Given the description of an element on the screen output the (x, y) to click on. 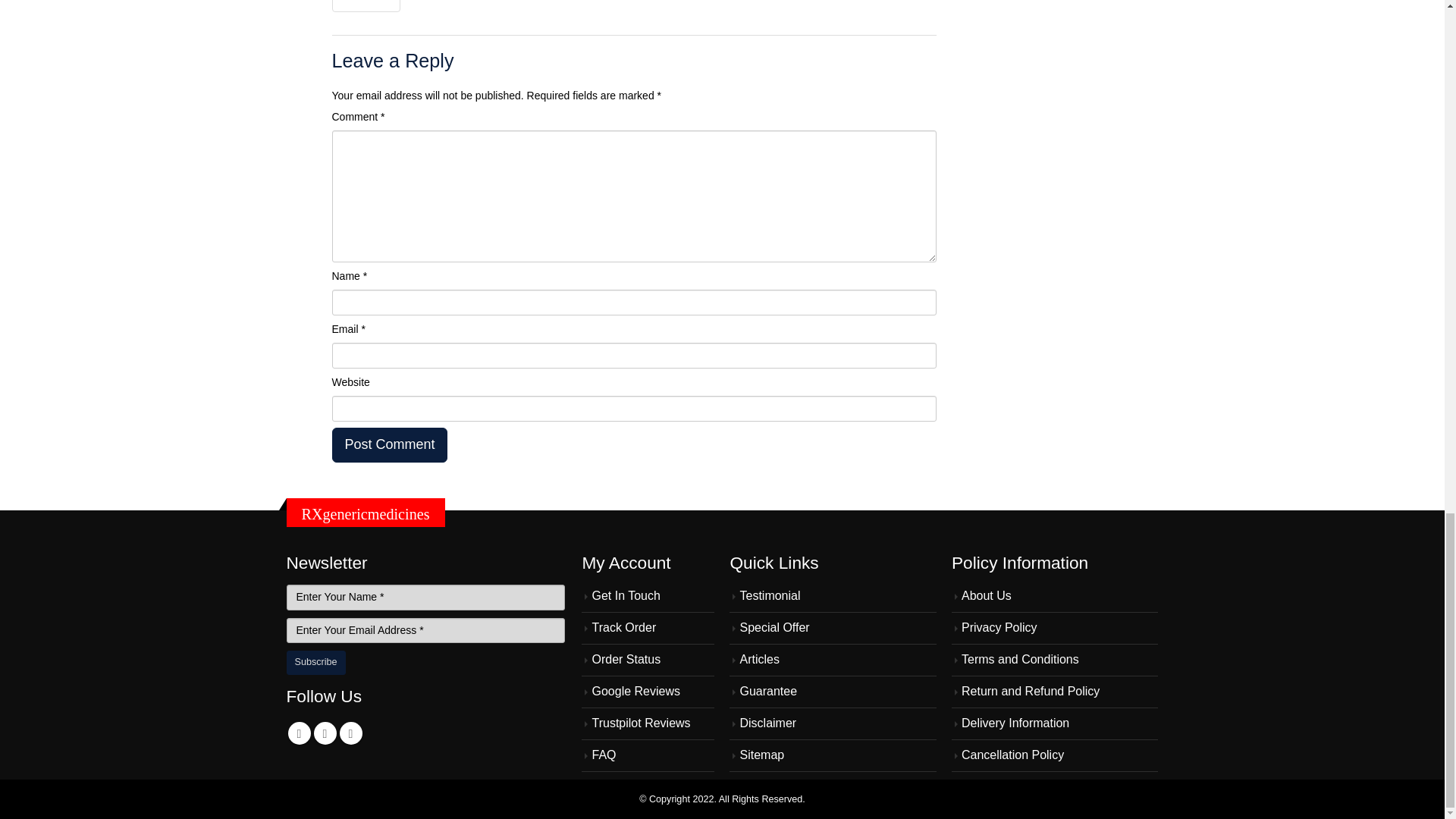
Linkedin (350, 732)
Track Order (623, 626)
Twitter (325, 732)
Order Status (626, 658)
Subscribe (316, 662)
Facebook (299, 732)
Post Comment (389, 444)
